Given the description of an element on the screen output the (x, y) to click on. 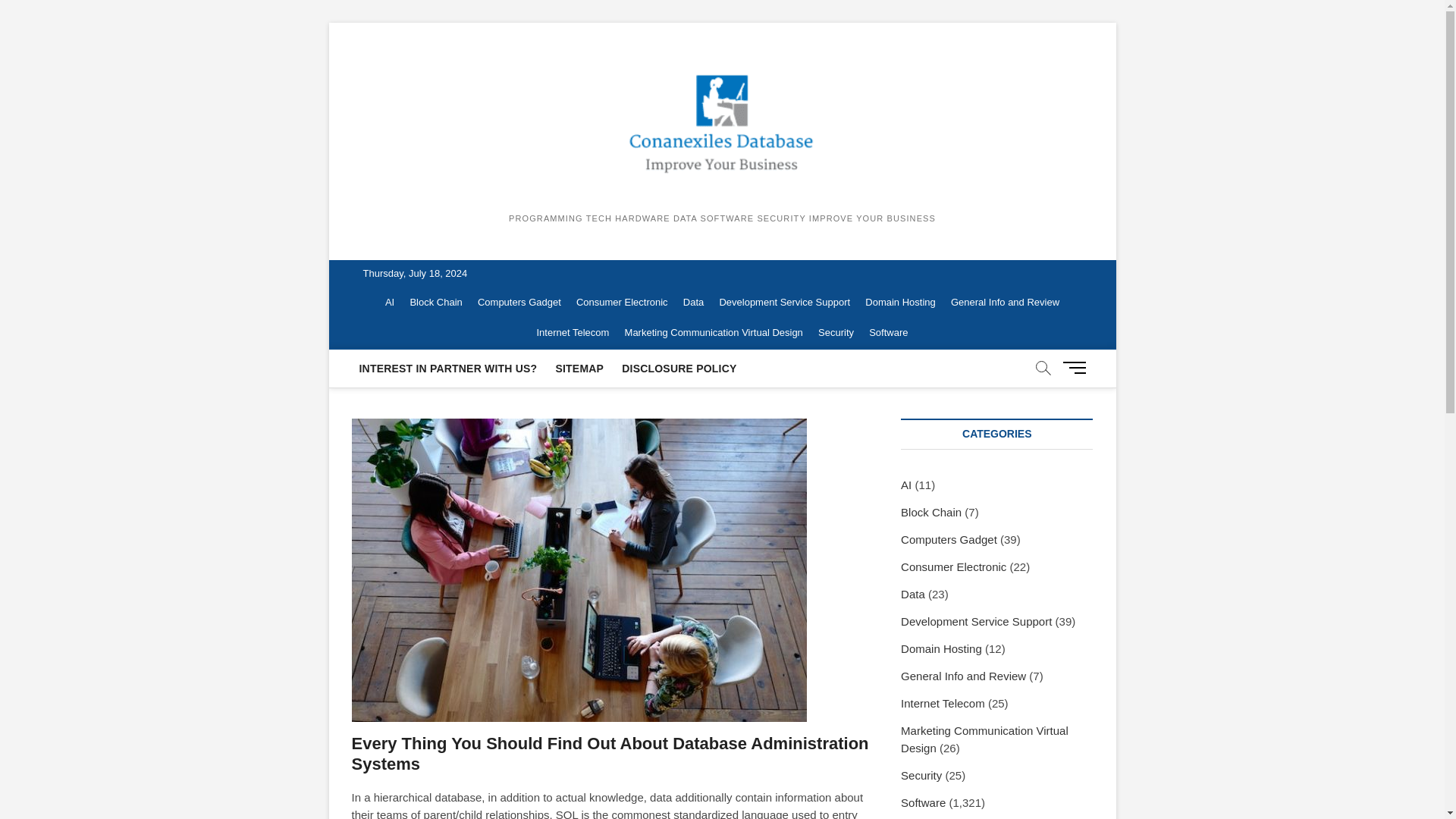
Consumer Electronic (622, 302)
Domain Hosting (900, 302)
Software (888, 332)
Computers Gadget (519, 302)
Block Chain (435, 302)
Security (836, 332)
Development Service Support (784, 302)
Menu Button (1077, 367)
SITEMAP (579, 368)
Marketing Communication Virtual Design (713, 332)
Internet Telecom (573, 332)
INTEREST IN PARTNER WITH US? (448, 368)
DISCLOSURE POLICY (679, 368)
